Given the description of an element on the screen output the (x, y) to click on. 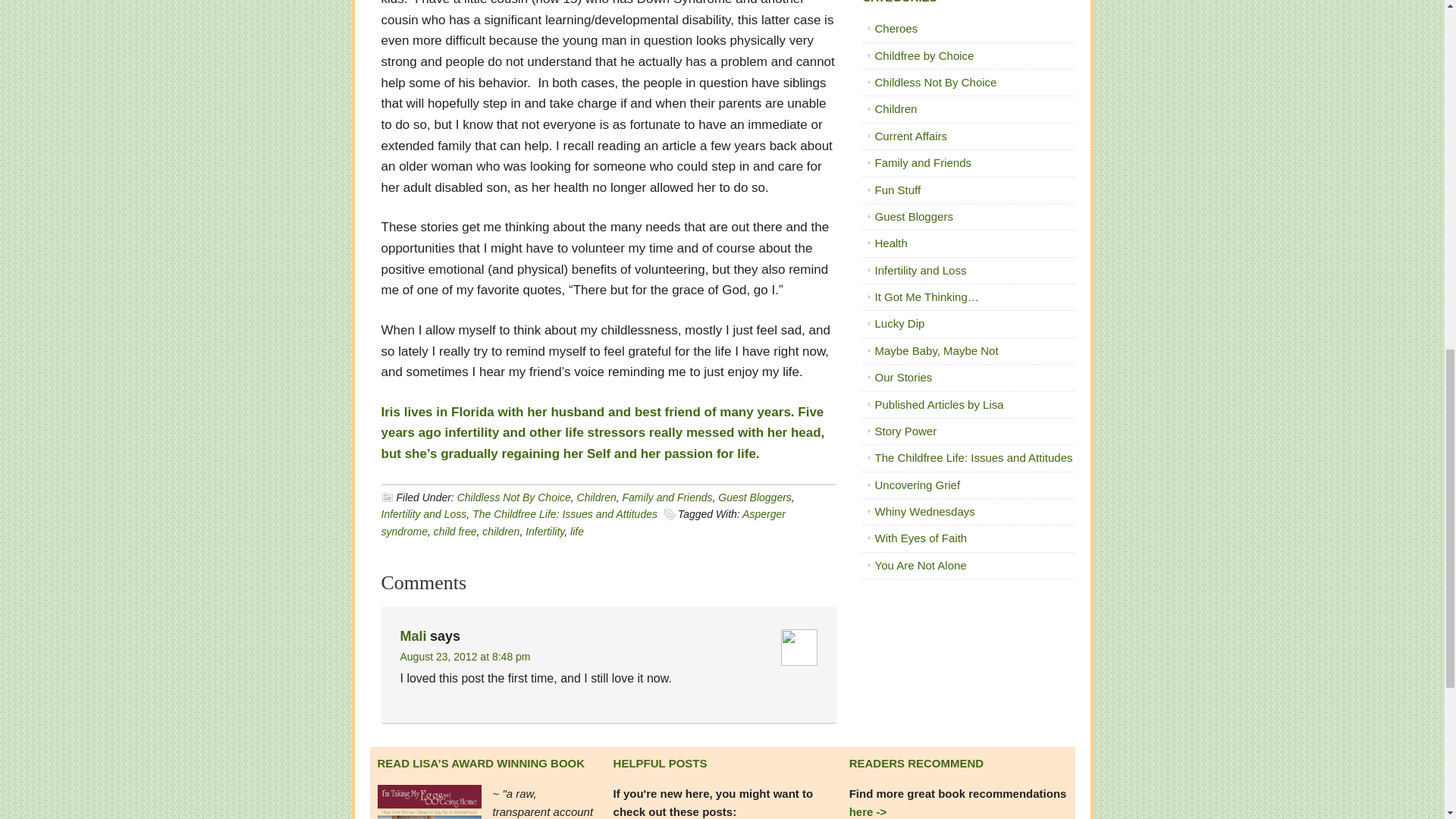
The Childfree Life: Issues and Attitudes (564, 513)
Story Power (906, 431)
Asperger syndrome (582, 522)
child free (455, 531)
children (500, 531)
life (576, 531)
Childfree by Choice (924, 55)
Current Affairs (911, 135)
Childless Not By Choice (513, 497)
Guest Bloggers (754, 497)
August 23, 2012 at 8:48 pm (465, 656)
Published Articles by Lisa (939, 404)
Guest Bloggers (914, 215)
Mali (413, 635)
Infertility (544, 531)
